Given the description of an element on the screen output the (x, y) to click on. 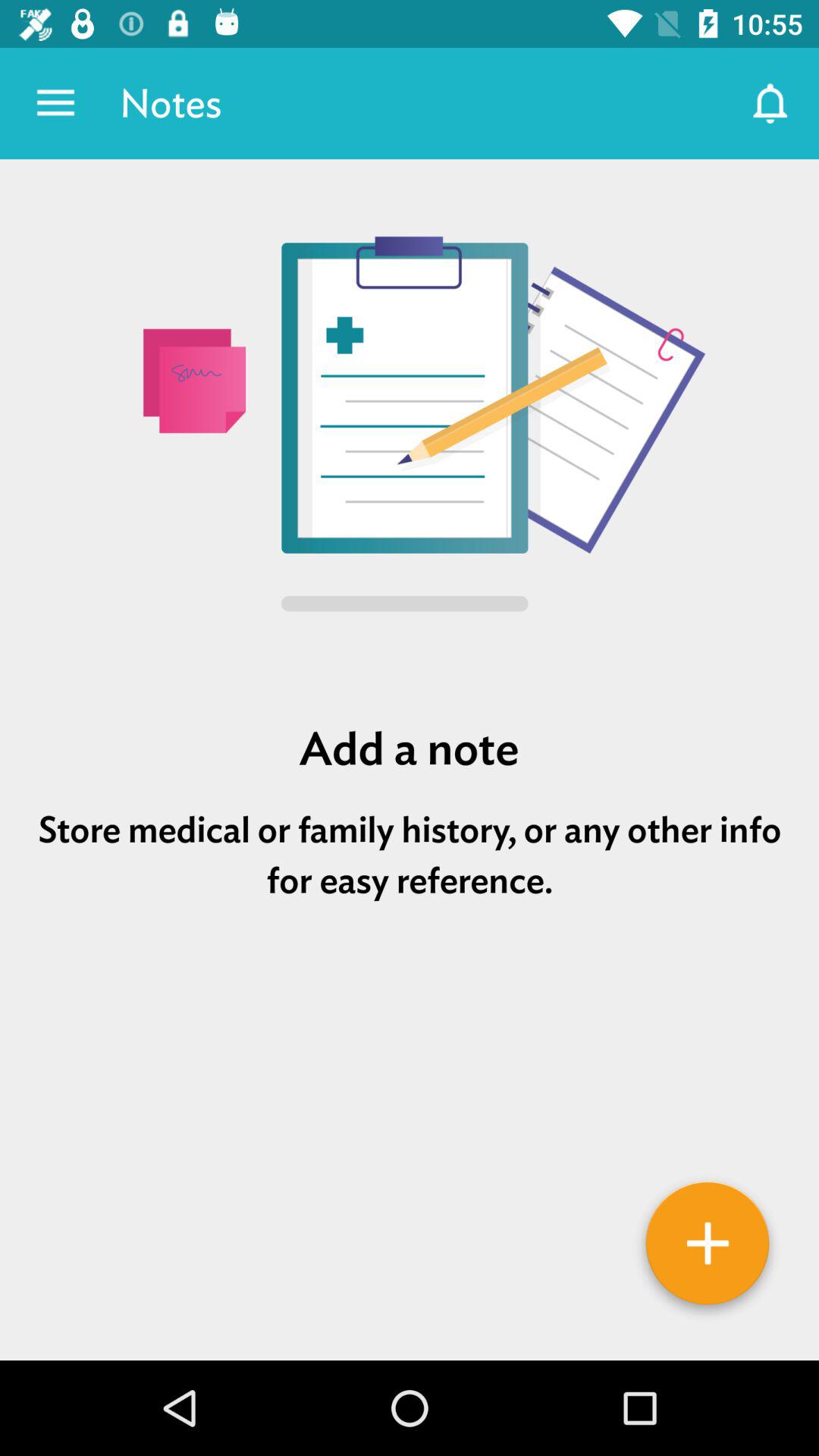
add a new note (707, 1248)
